Given the description of an element on the screen output the (x, y) to click on. 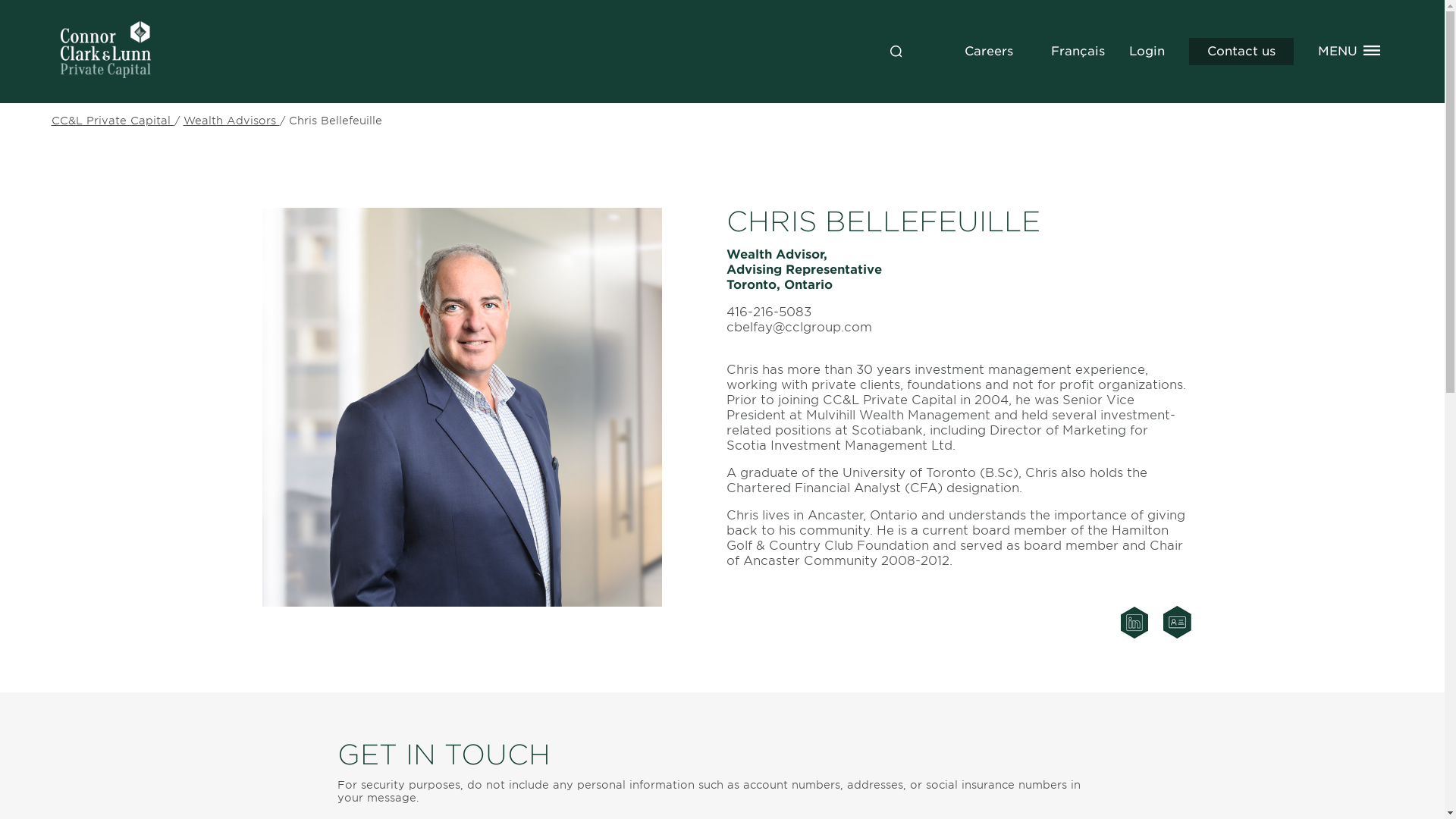
Careers (988, 51)
Contact us (1241, 51)
Login (1145, 51)
MENU (1336, 51)
View LinkedIn profile (1134, 634)
